Given the description of an element on the screen output the (x, y) to click on. 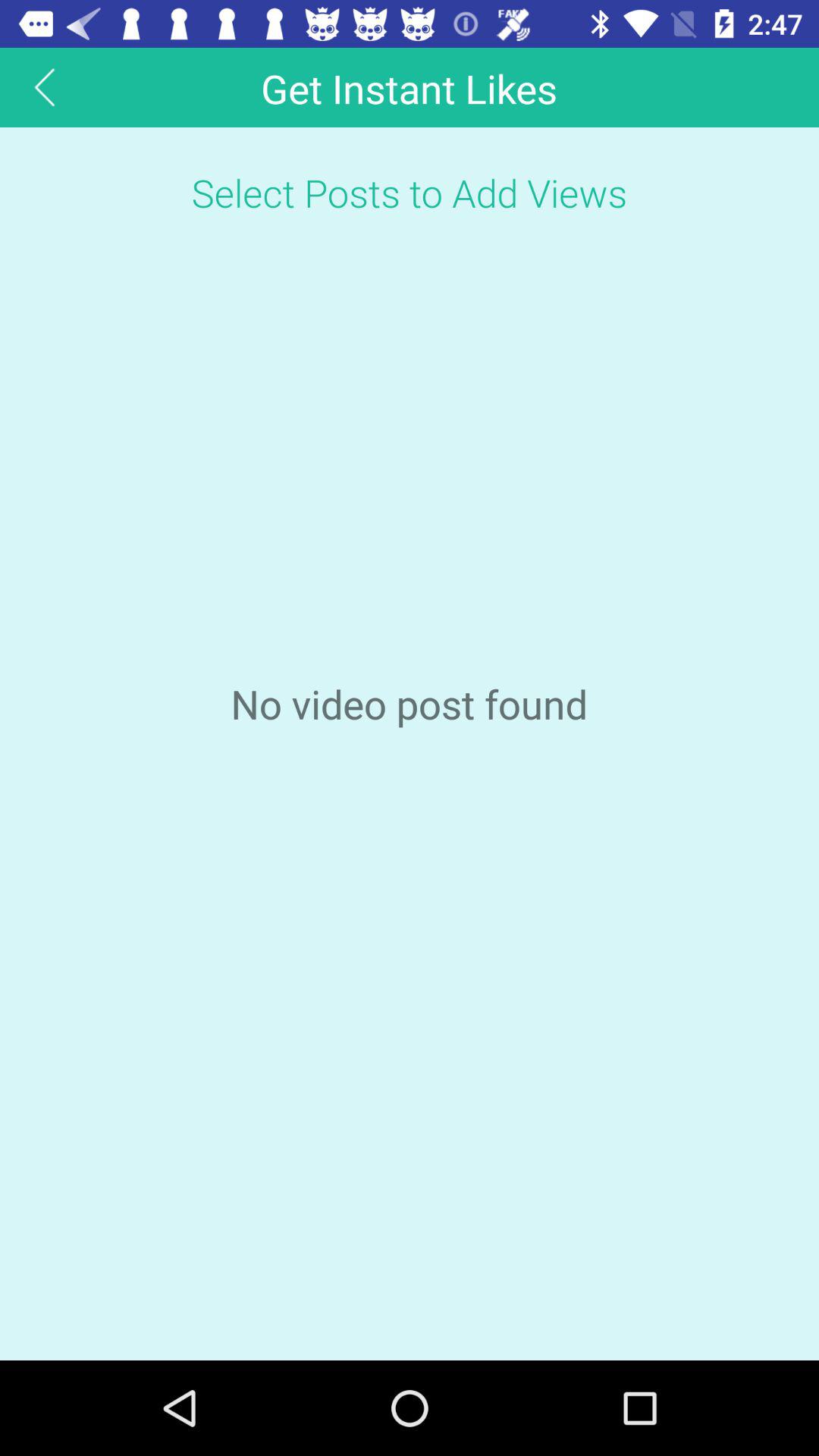
turn on the icon at the top left corner (44, 87)
